Given the description of an element on the screen output the (x, y) to click on. 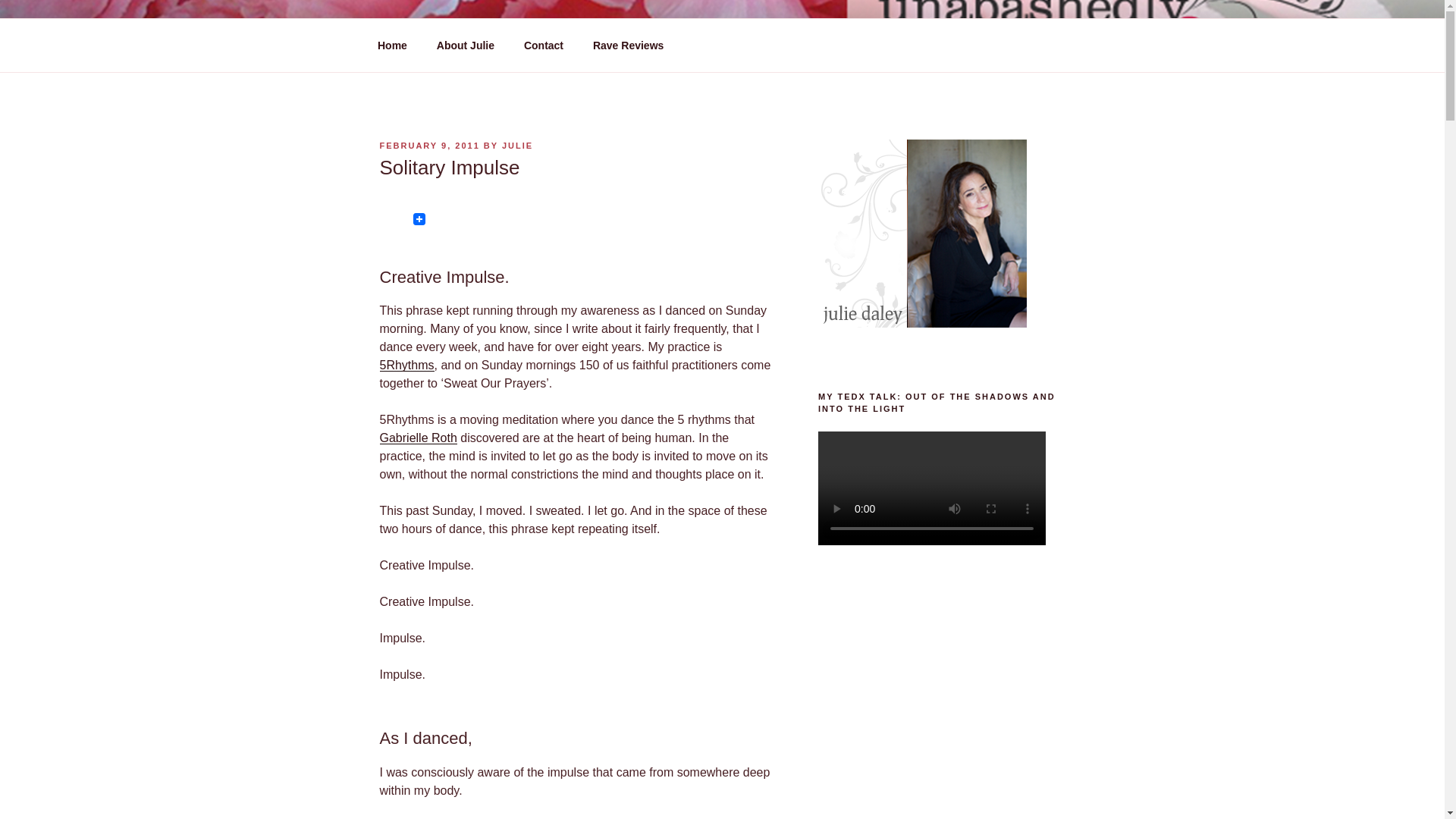
Home (392, 45)
FEBRUARY 9, 2011 (428, 144)
Contact (543, 45)
Gabrielle Roth (417, 437)
About Julie (464, 45)
UNABASHEDLY FEMALE (561, 52)
Rave Reviews (628, 45)
JULIE (517, 144)
5Rhythms (405, 364)
